Given the description of an element on the screen output the (x, y) to click on. 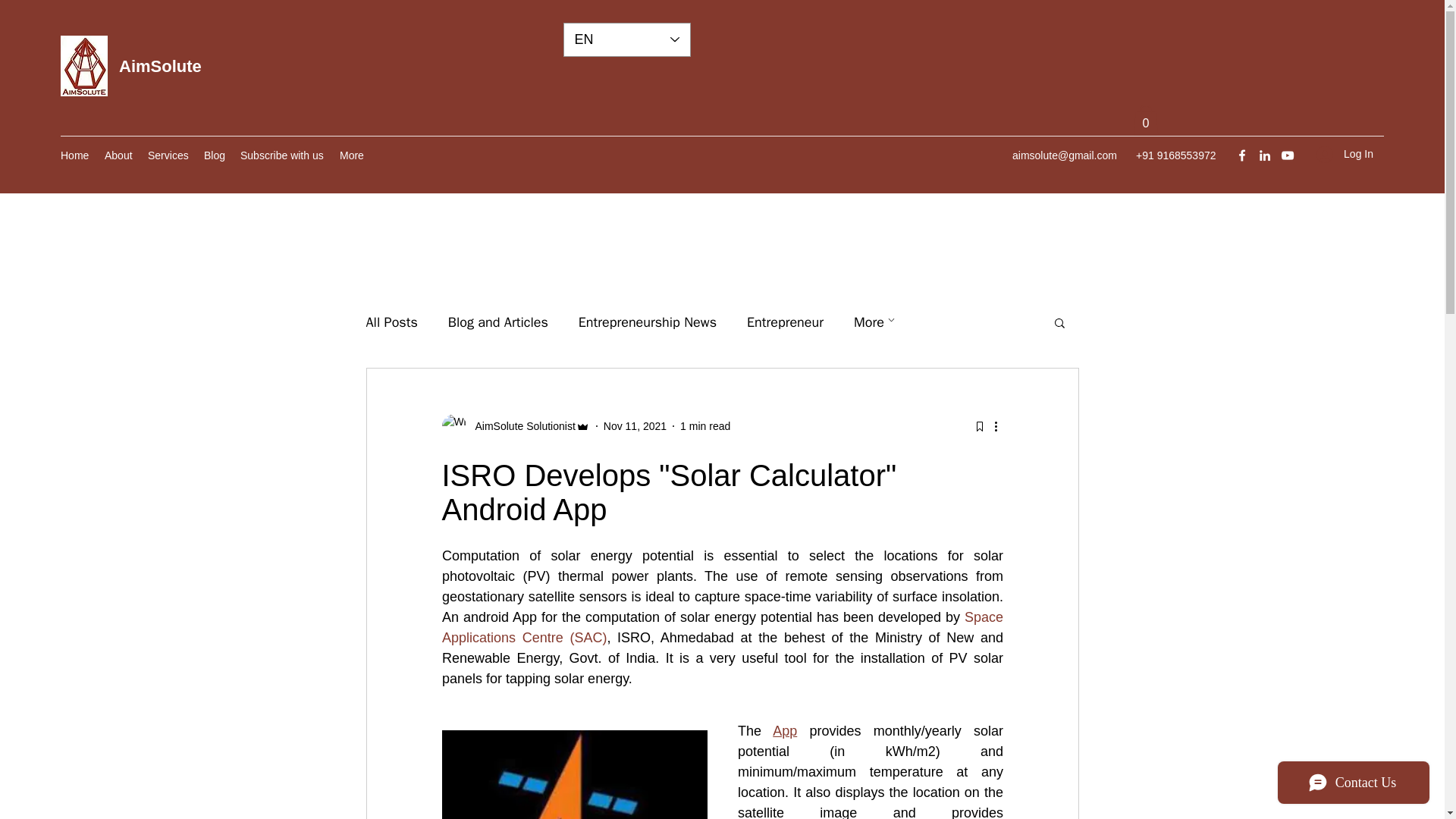
Log In (1345, 154)
AimSolute Solutionist (520, 426)
AimSolute (160, 66)
Blog and Articles (498, 321)
Blog (214, 155)
AimSolute Solutionist (515, 426)
Home (74, 155)
Subscribe with us (281, 155)
Nov 11, 2021 (635, 426)
Entrepreneur (785, 321)
Services (167, 155)
All Posts (390, 321)
About (118, 155)
1 min read (704, 426)
Entrepreneurship News (647, 321)
